Given the description of an element on the screen output the (x, y) to click on. 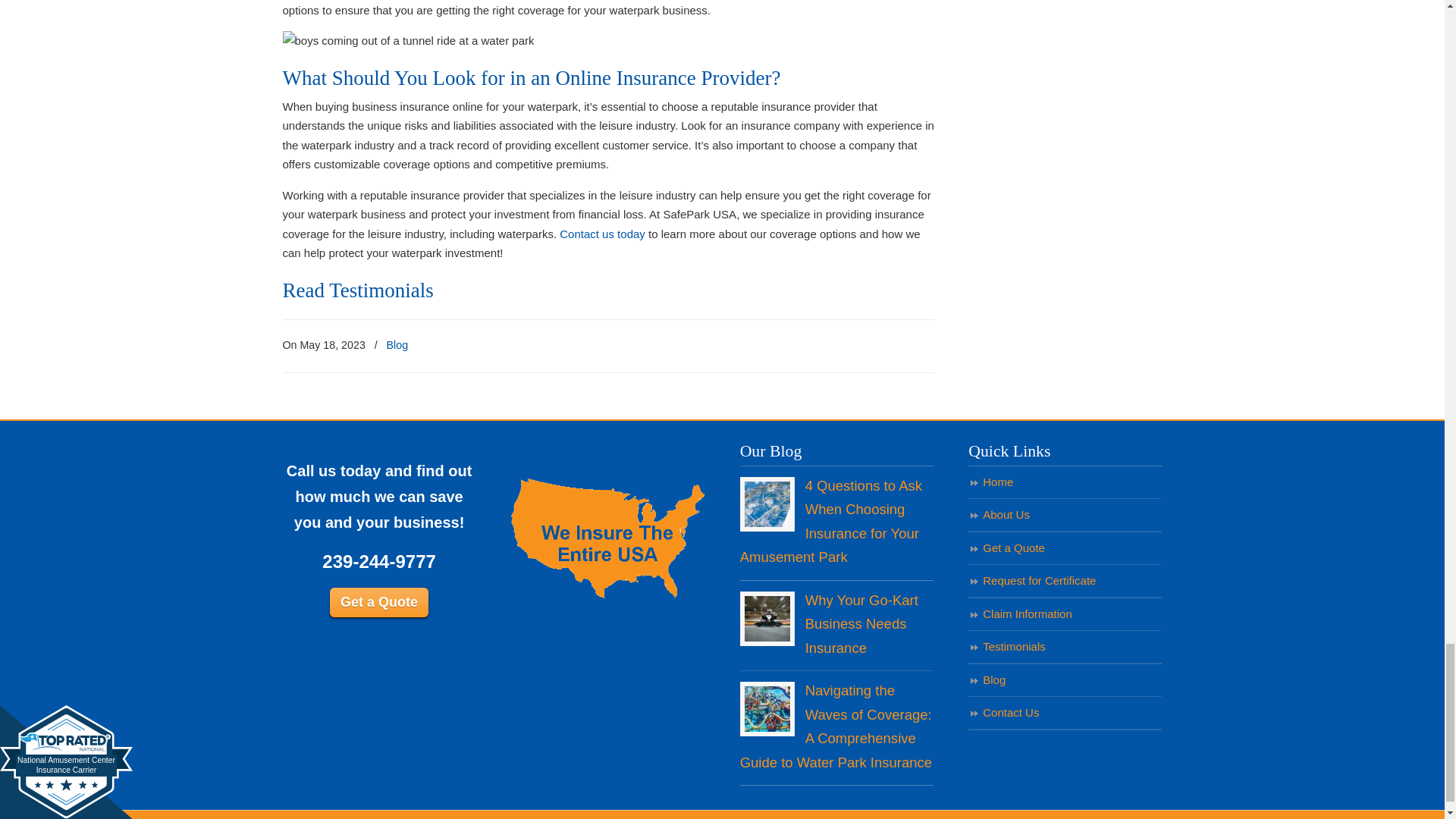
Read Testimonials (357, 290)
Blog (398, 344)
Contact us today (602, 233)
